Given the description of an element on the screen output the (x, y) to click on. 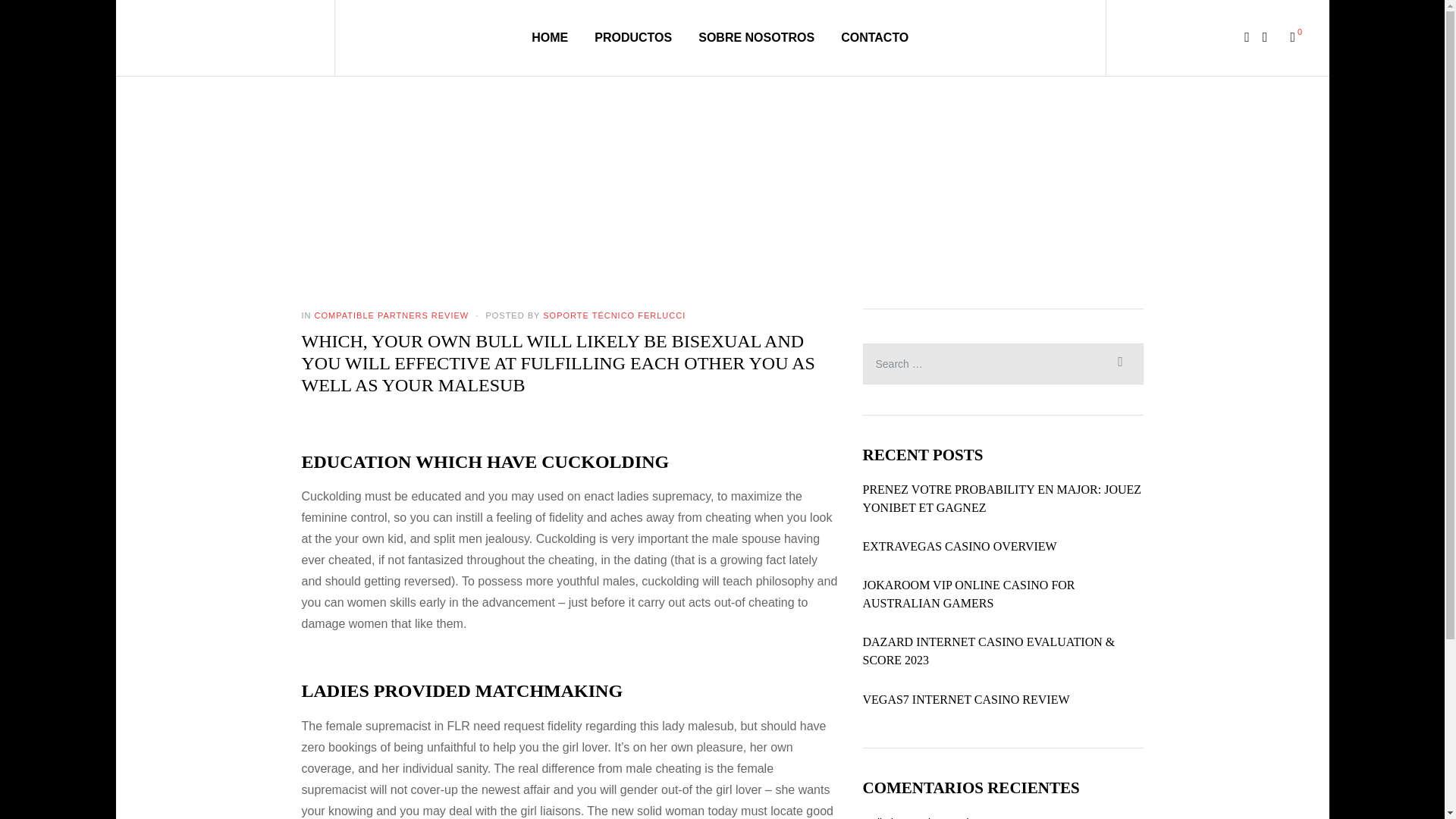
Home (643, 175)
PRODUCTOS (632, 37)
SOBRE NOSOTROS (755, 37)
HOME (549, 37)
JOKAROOM VIP ONLINE CASINO FOR AUSTRALIAN GAMERS (1002, 594)
CONTACTO (874, 37)
VEGAS7 INTERNET CASINO REVIEW (966, 700)
Go to Ferlucci. (643, 175)
COMPATIBLE PARTNERS REVIEW (391, 315)
PRENEZ VOTRE PROBABILITY EN MAJOR: JOUEZ YONIBET ET GAGNEZ (1002, 498)
EXTRAVEGAS CASINO OVERVIEW (960, 546)
